Given the description of an element on the screen output the (x, y) to click on. 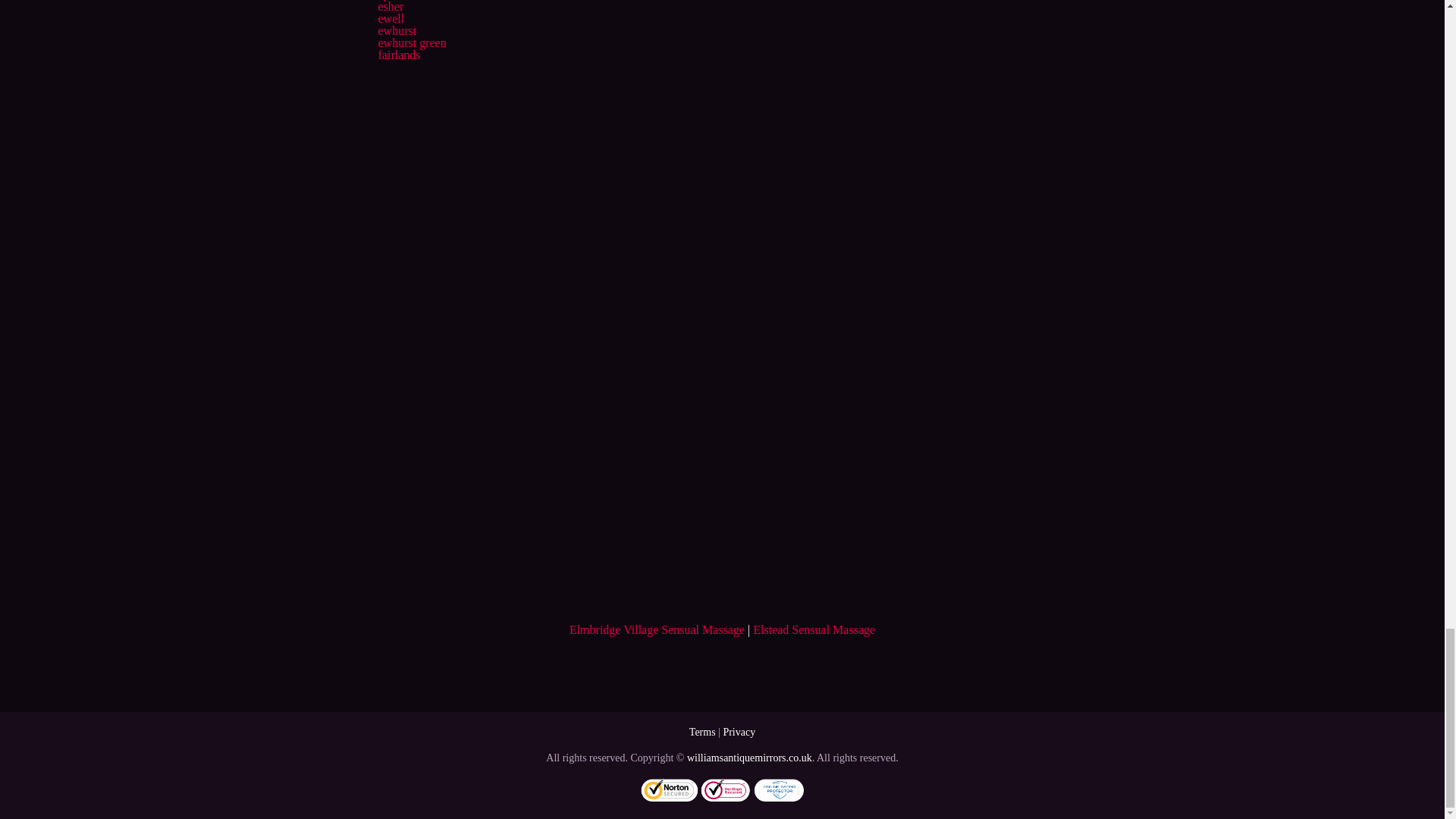
epsom downs (410, 0)
Terms (702, 731)
ewhurst green (411, 42)
williamsantiquemirrors.co.uk (749, 757)
Elmbridge Village Sensual Massage (656, 629)
esher (390, 6)
ewhurst (396, 30)
ewell (390, 18)
fairlands (398, 54)
Terms (702, 731)
Privacy (738, 731)
Elstead Sensual Massage (813, 629)
Privacy (738, 731)
